Given the description of an element on the screen output the (x, y) to click on. 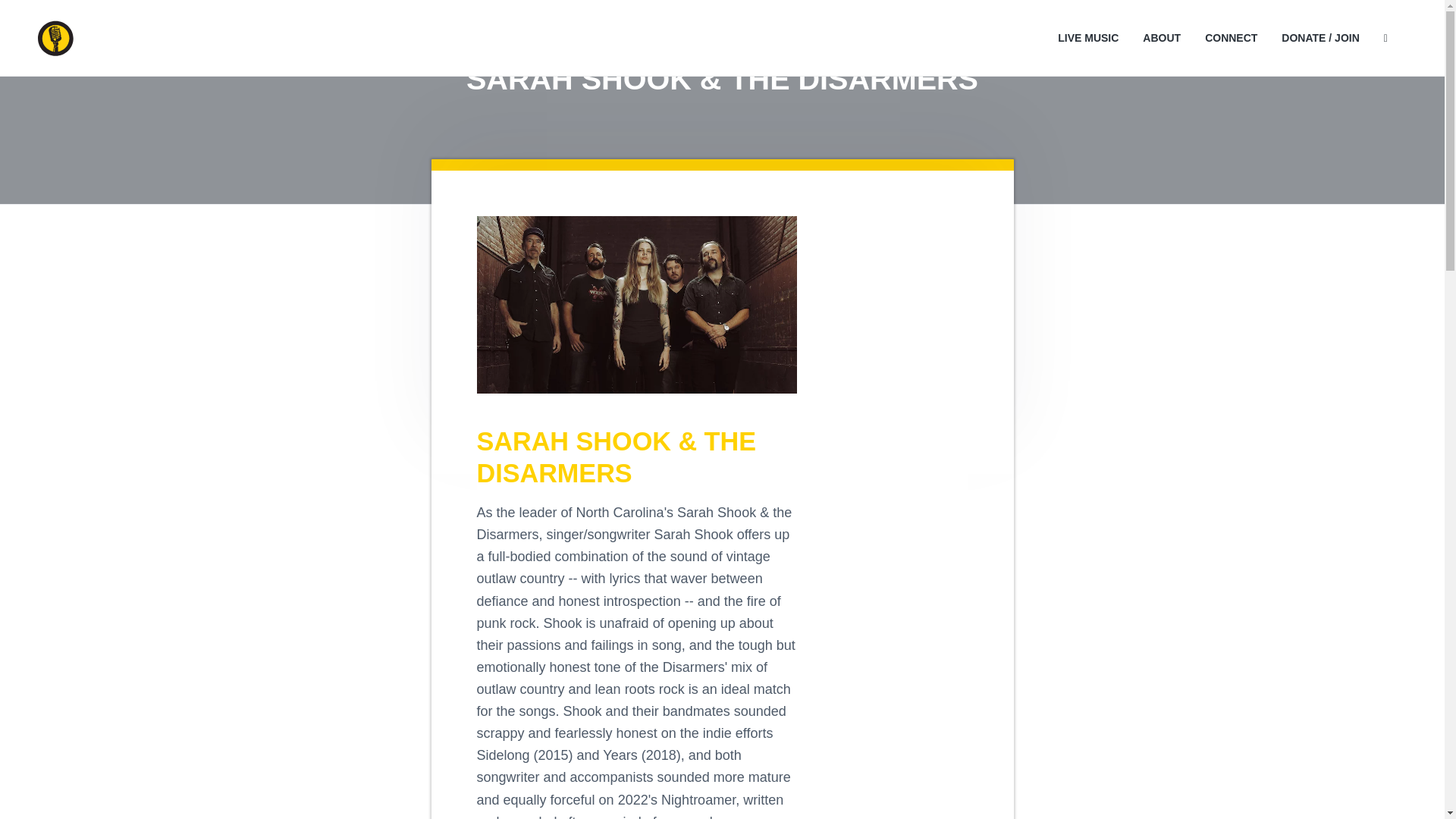
shook (636, 304)
Search (66, 18)
CONNECT (1231, 37)
LIVE MUSIC (1088, 37)
ABOUT (1161, 37)
